Given the description of an element on the screen output the (x, y) to click on. 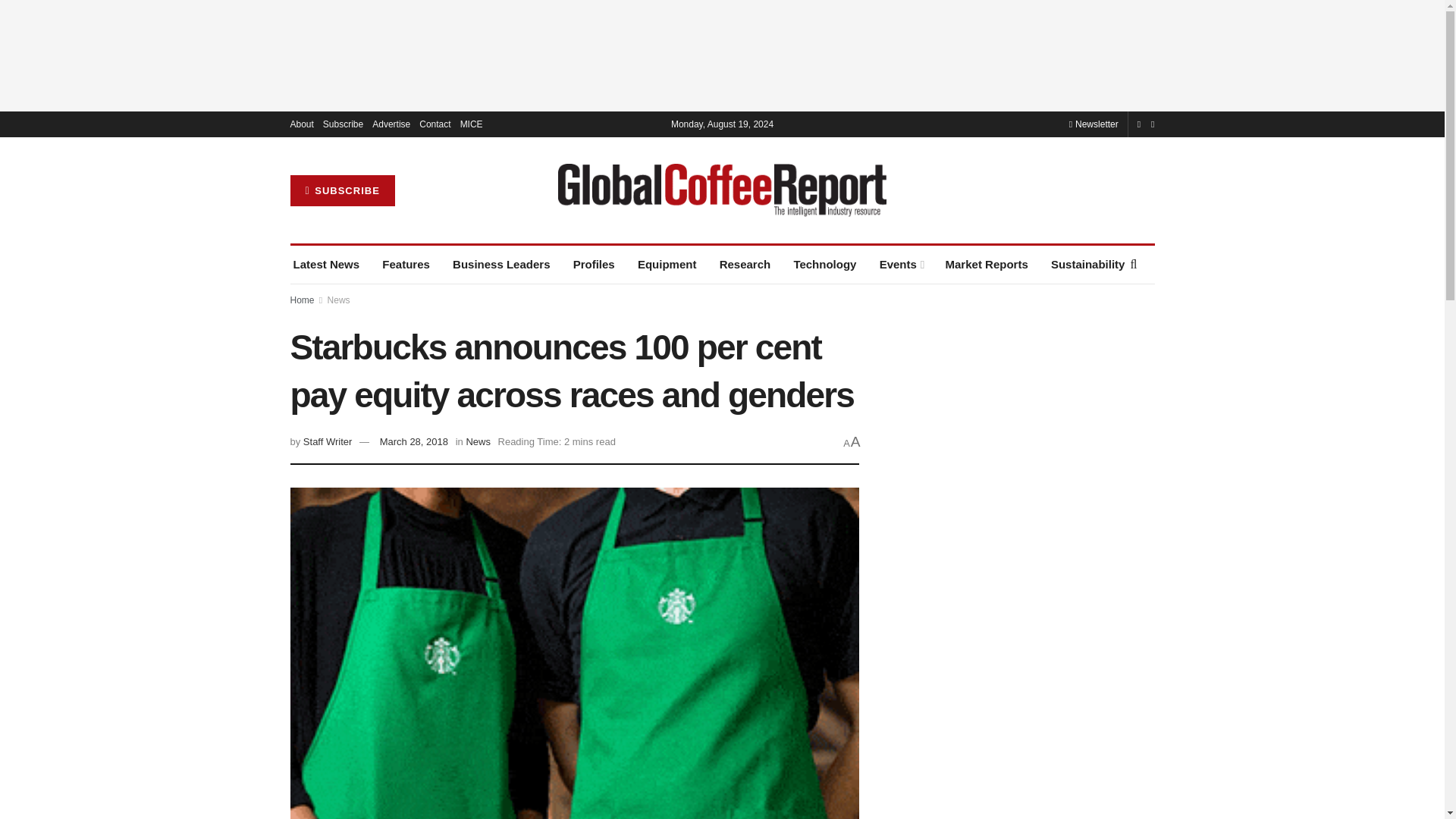
Advertise (391, 124)
About (301, 124)
Equipment (667, 264)
Events (901, 264)
Research (745, 264)
Profiles (593, 264)
Subscribe (342, 124)
Business Leaders (501, 264)
Technology (824, 264)
Features (405, 264)
